Given the description of an element on the screen output the (x, y) to click on. 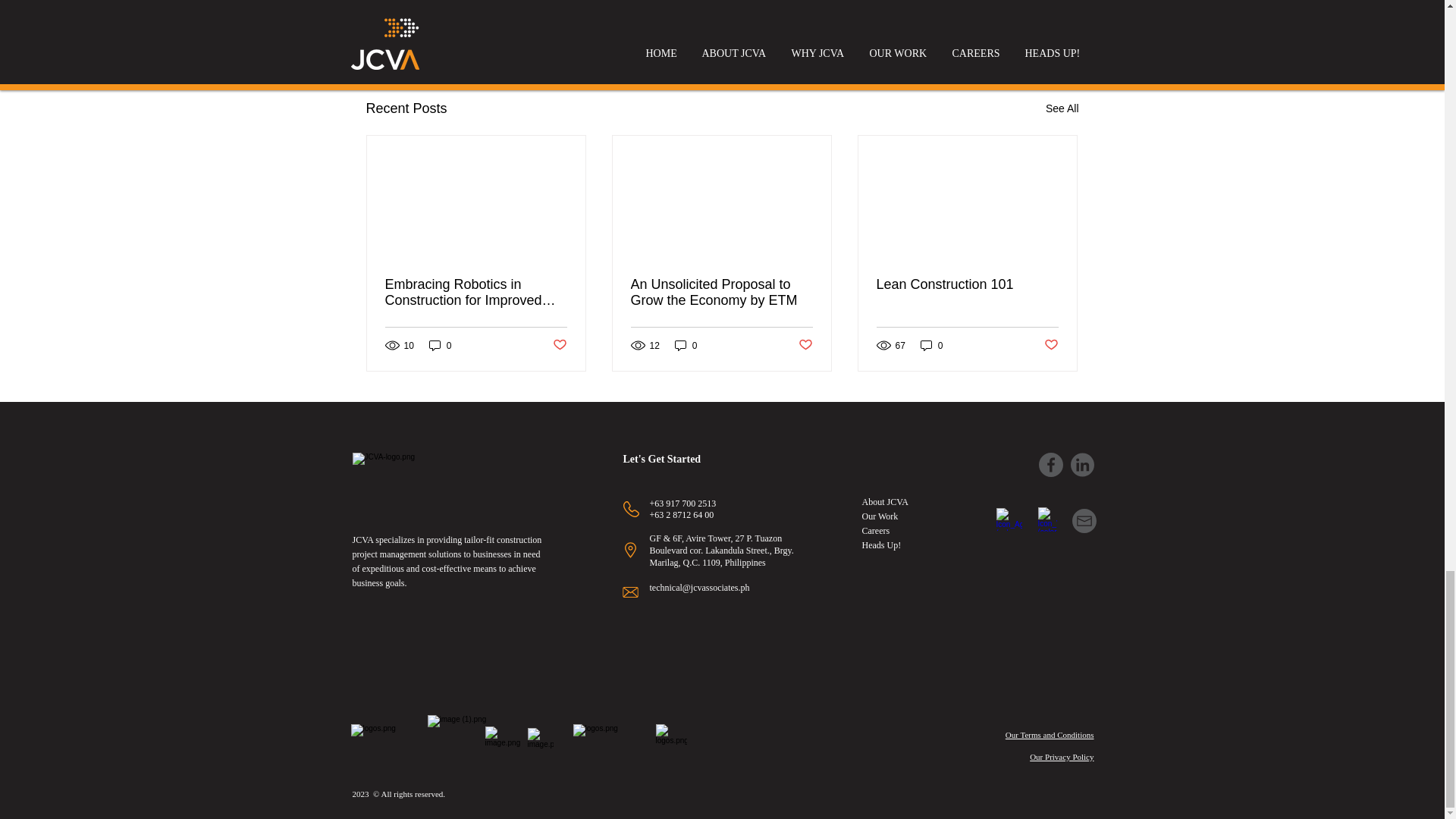
Post not marked as liked (995, 26)
See All (1061, 108)
Embracing Robotics in Construction for Improved Efficiency (476, 292)
